Given the description of an element on the screen output the (x, y) to click on. 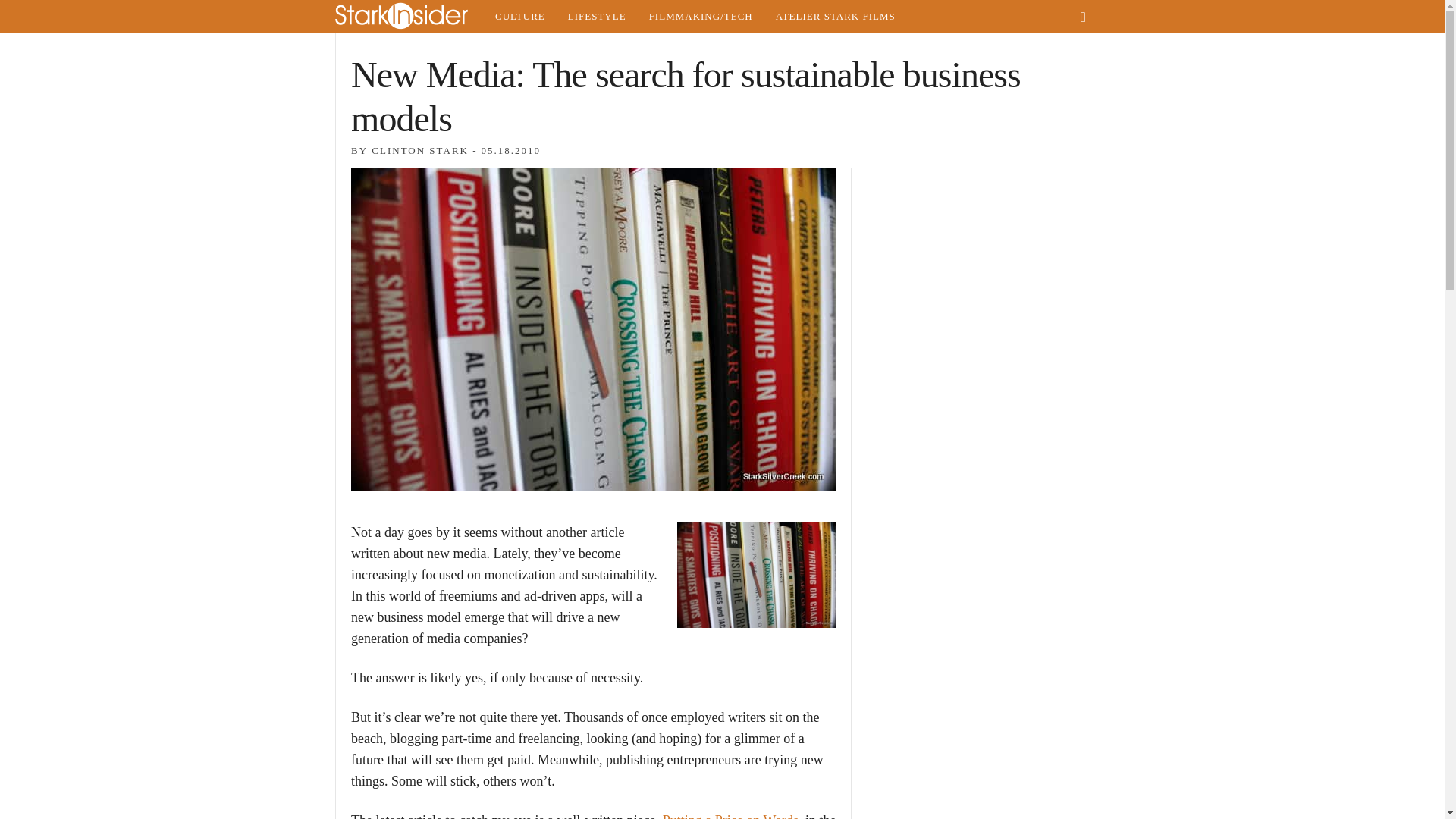
ATELIER STARK FILMS (835, 16)
LIFESTYLE (596, 16)
Tipping Point in New Media? (756, 574)
Tech, gadgets, camera news and reviews from Silicon Valley (700, 16)
CLINTON STARK (419, 150)
Stark Insider (408, 16)
Indie film, music, arts in San Francisco and Silicon Valley (519, 16)
CULTURE (519, 16)
